Given the description of an element on the screen output the (x, y) to click on. 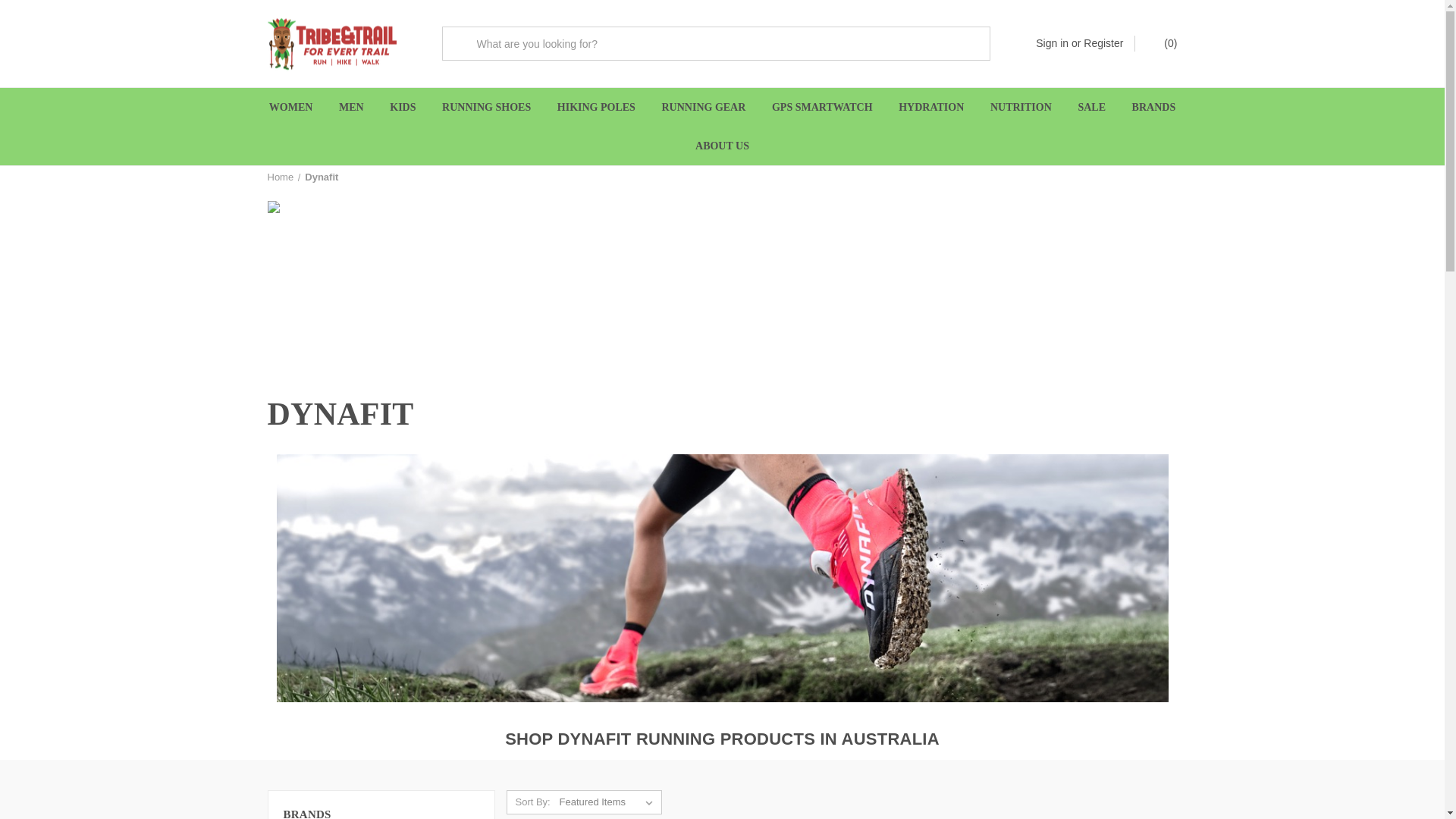
KIDS (403, 106)
Register (1102, 43)
Sign in (1051, 43)
MEN (351, 106)
WOMEN (291, 106)
